Given the description of an element on the screen output the (x, y) to click on. 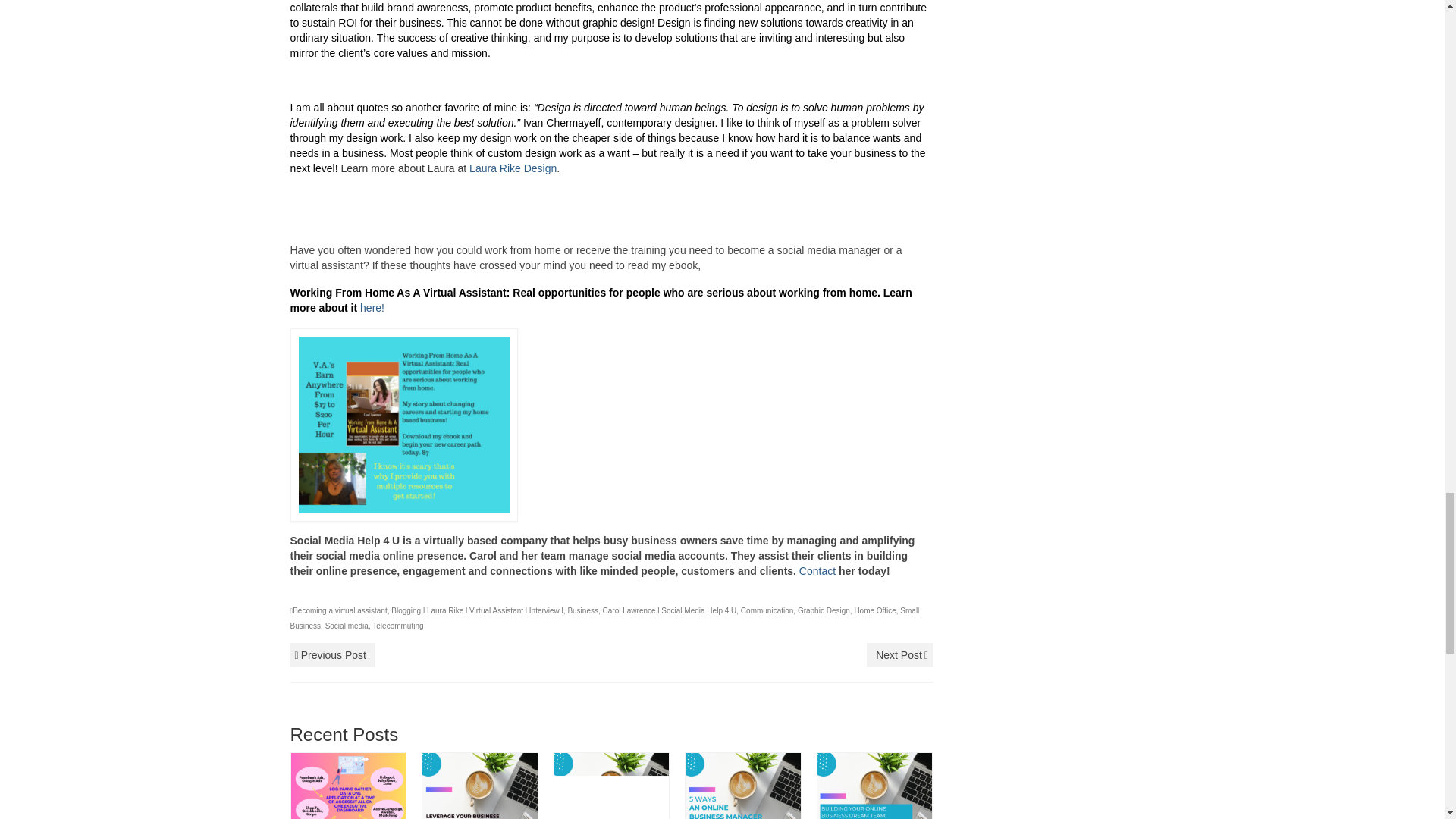
Have All Your Metrics Funneled Into One Metric Dashboard (348, 808)
 Laura Rike Design (510, 168)
Leverage Your Business With An OBM (479, 808)
here! (370, 307)
